Given the description of an element on the screen output the (x, y) to click on. 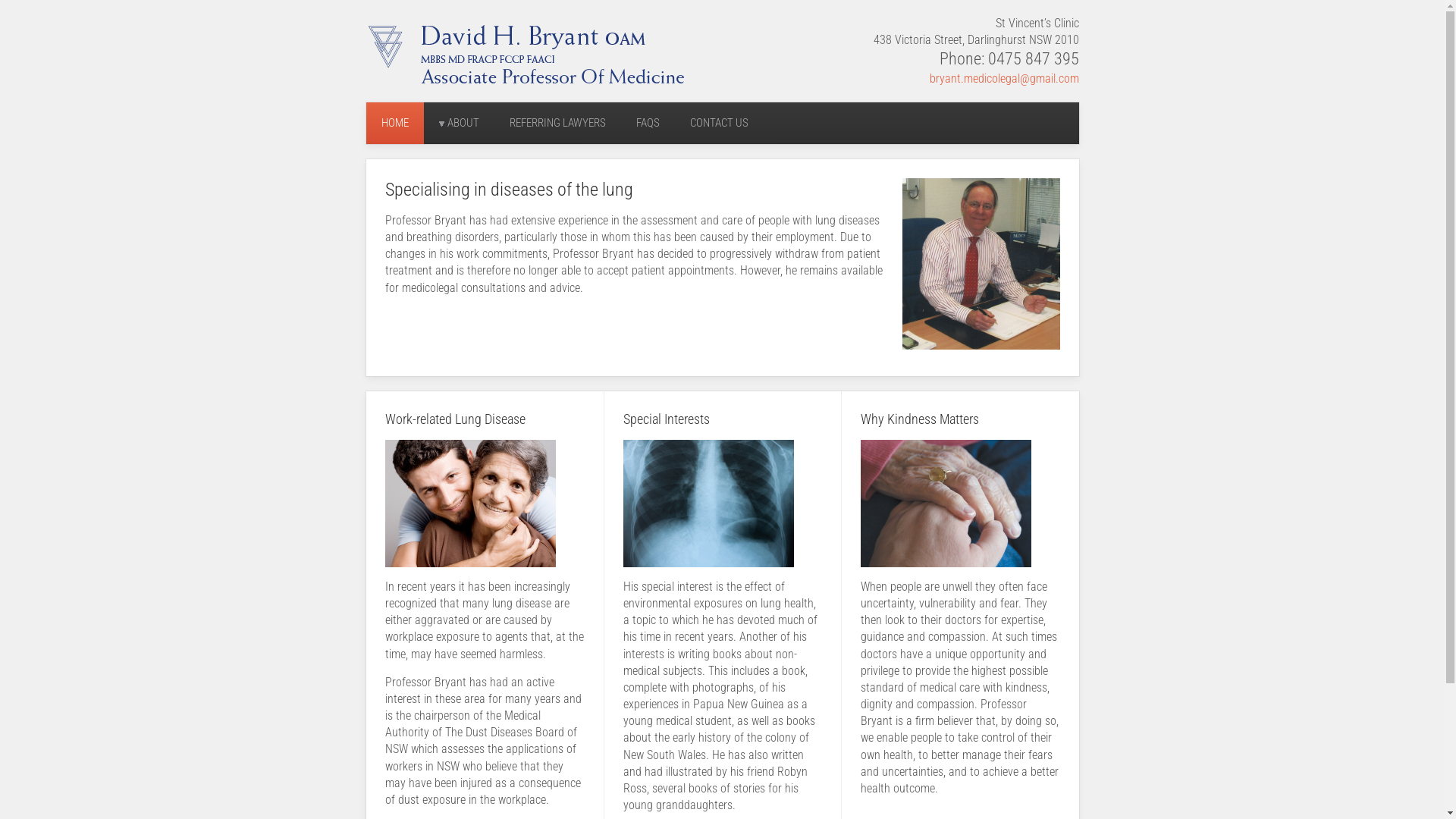
REFERRING LAWYERS Element type: text (557, 123)
CONTACT US Element type: text (718, 123)
ABOUT Element type: text (458, 123)
FAQS Element type: text (647, 123)
bryant.medicolegal@gmail.com Element type: text (1004, 78)
HOME Element type: text (394, 123)
